Given the description of an element on the screen output the (x, y) to click on. 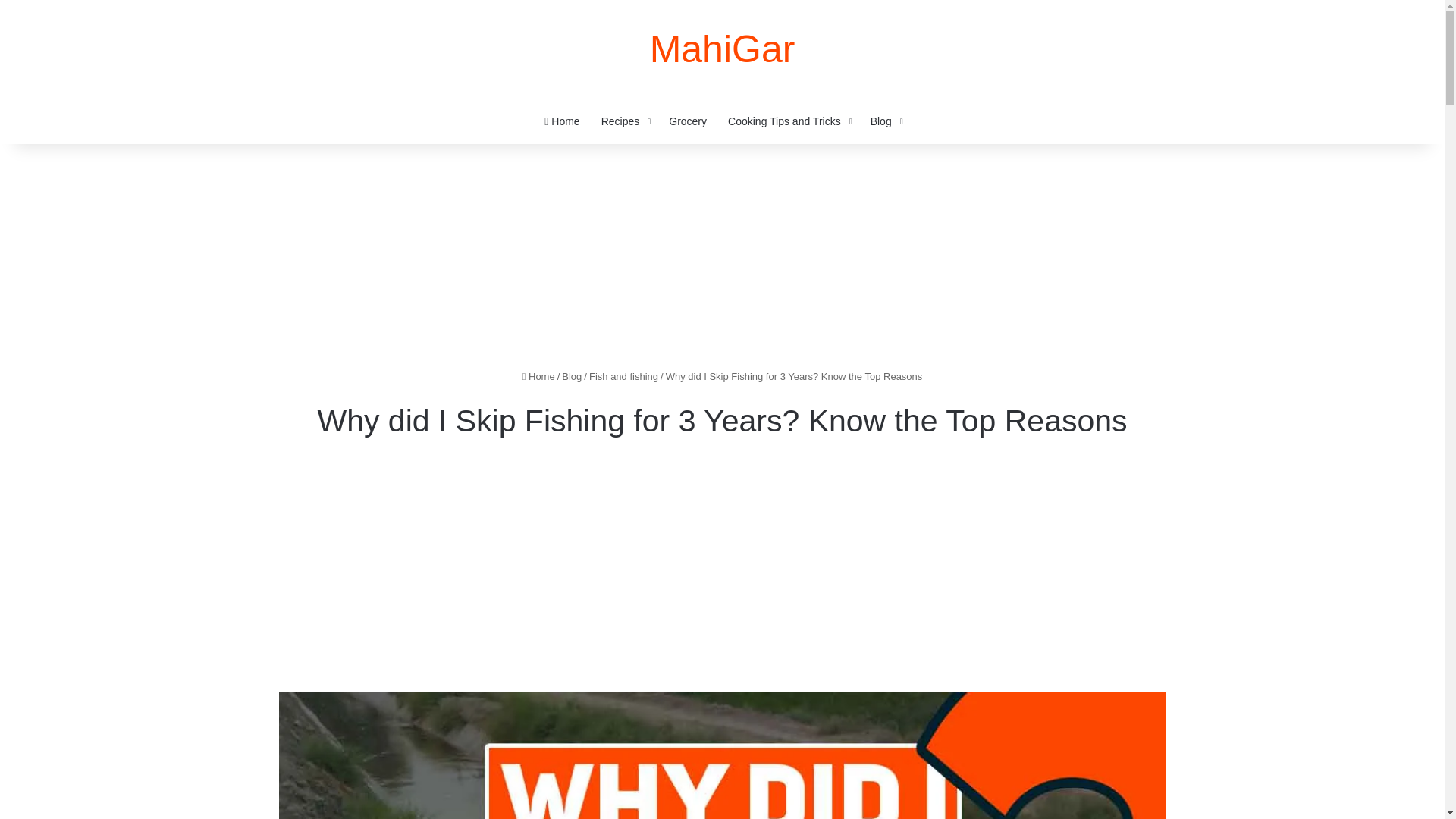
Fish and fishing (623, 376)
Blog (885, 121)
Blog (571, 376)
Cooking Tips and Tricks (788, 121)
Home (538, 376)
MahiGar (721, 48)
Home (561, 121)
MahiGar (721, 48)
Recipes (625, 121)
Grocery (687, 121)
